Given the description of an element on the screen output the (x, y) to click on. 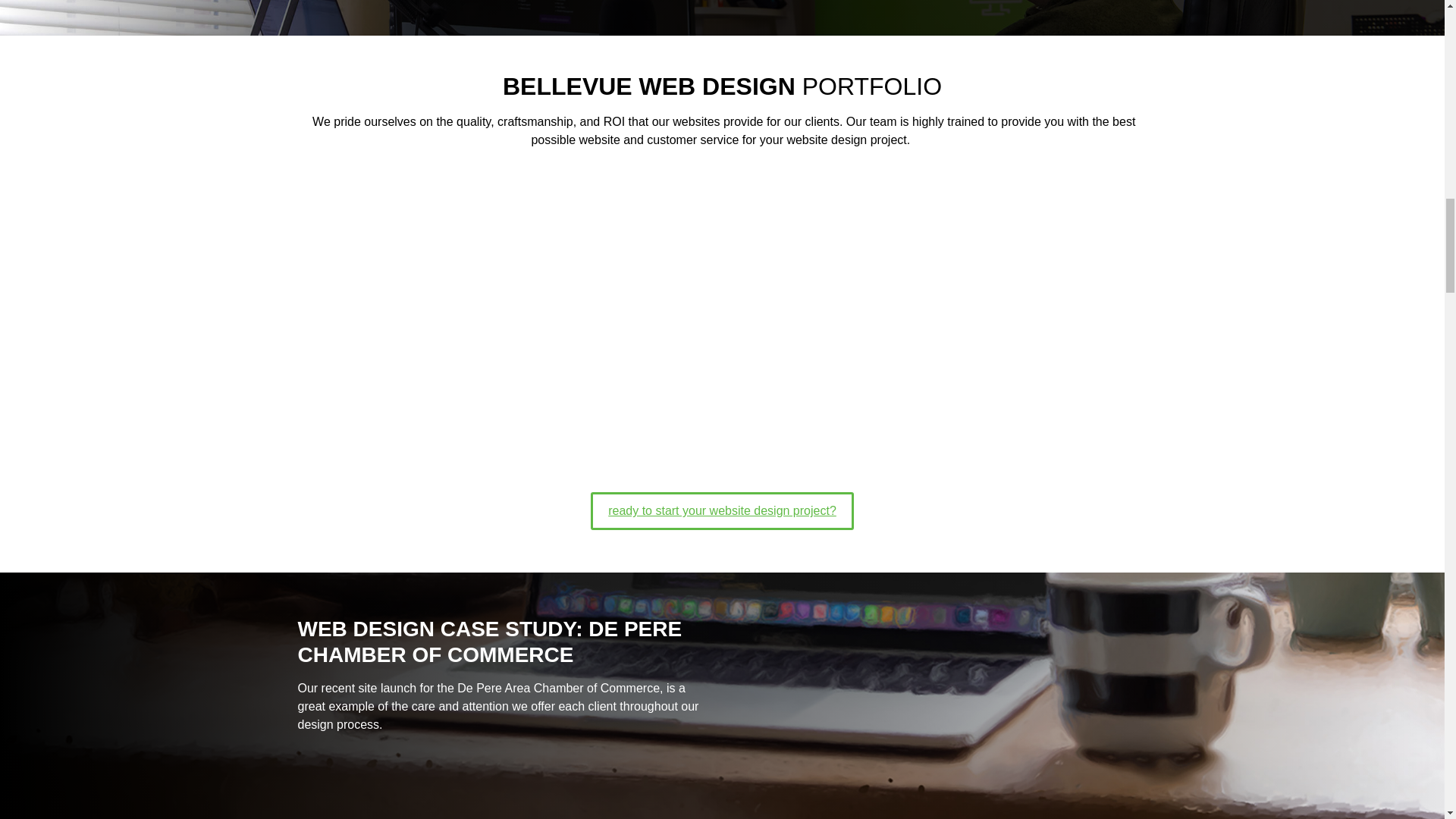
ready to start your website design project? (722, 510)
